Given the description of an element on the screen output the (x, y) to click on. 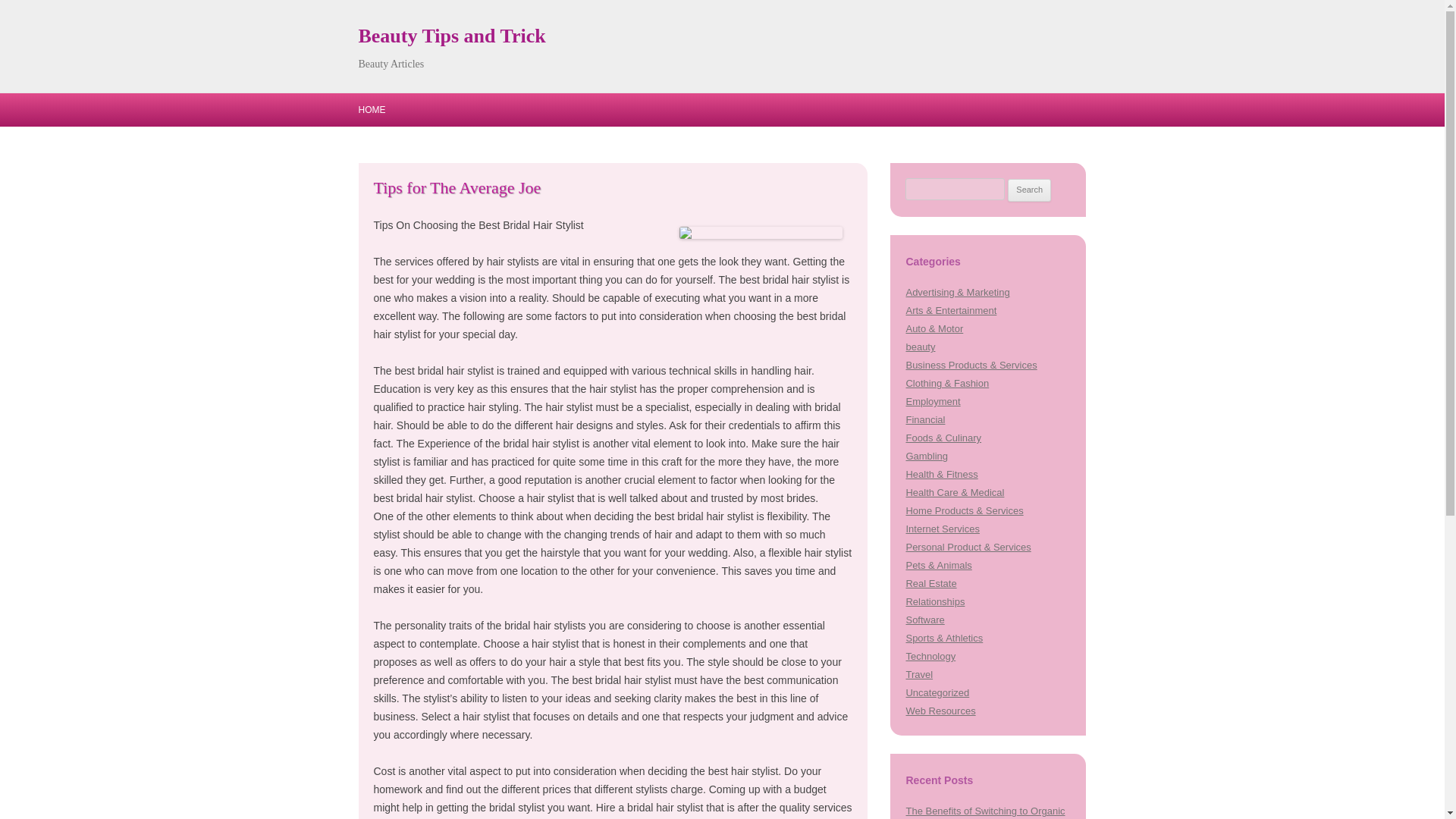
beauty (919, 346)
Beauty Tips and Trick (451, 36)
Search (1029, 190)
Web Resources (940, 710)
Software (924, 619)
Financial (924, 419)
Internet Services (941, 528)
Uncategorized (937, 692)
Beauty Tips and Trick (451, 36)
